Given the description of an element on the screen output the (x, y) to click on. 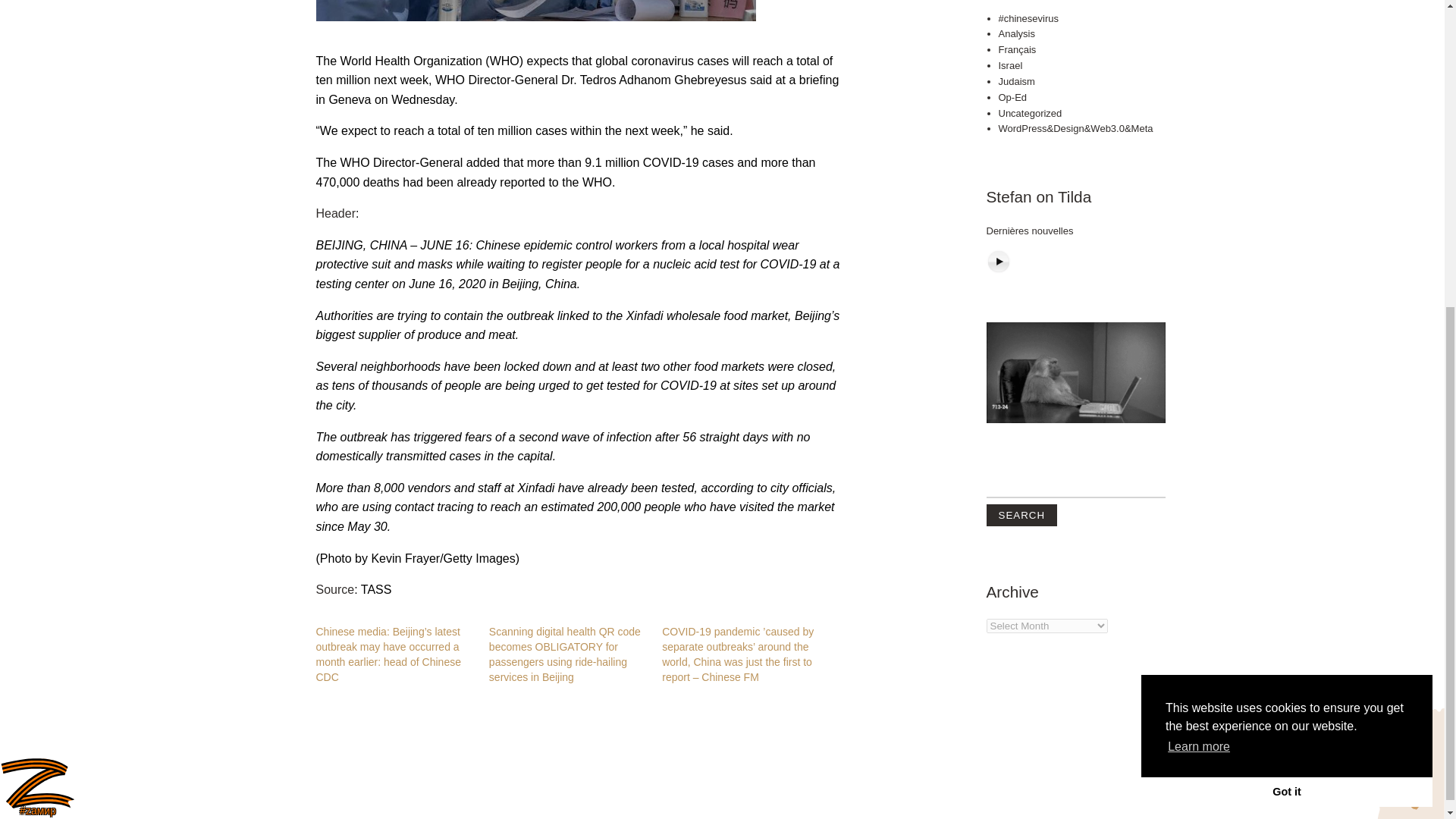
Learn more (1198, 254)
Got it (1286, 299)
Search (1021, 223)
Search (1021, 223)
